Given the description of an element on the screen output the (x, y) to click on. 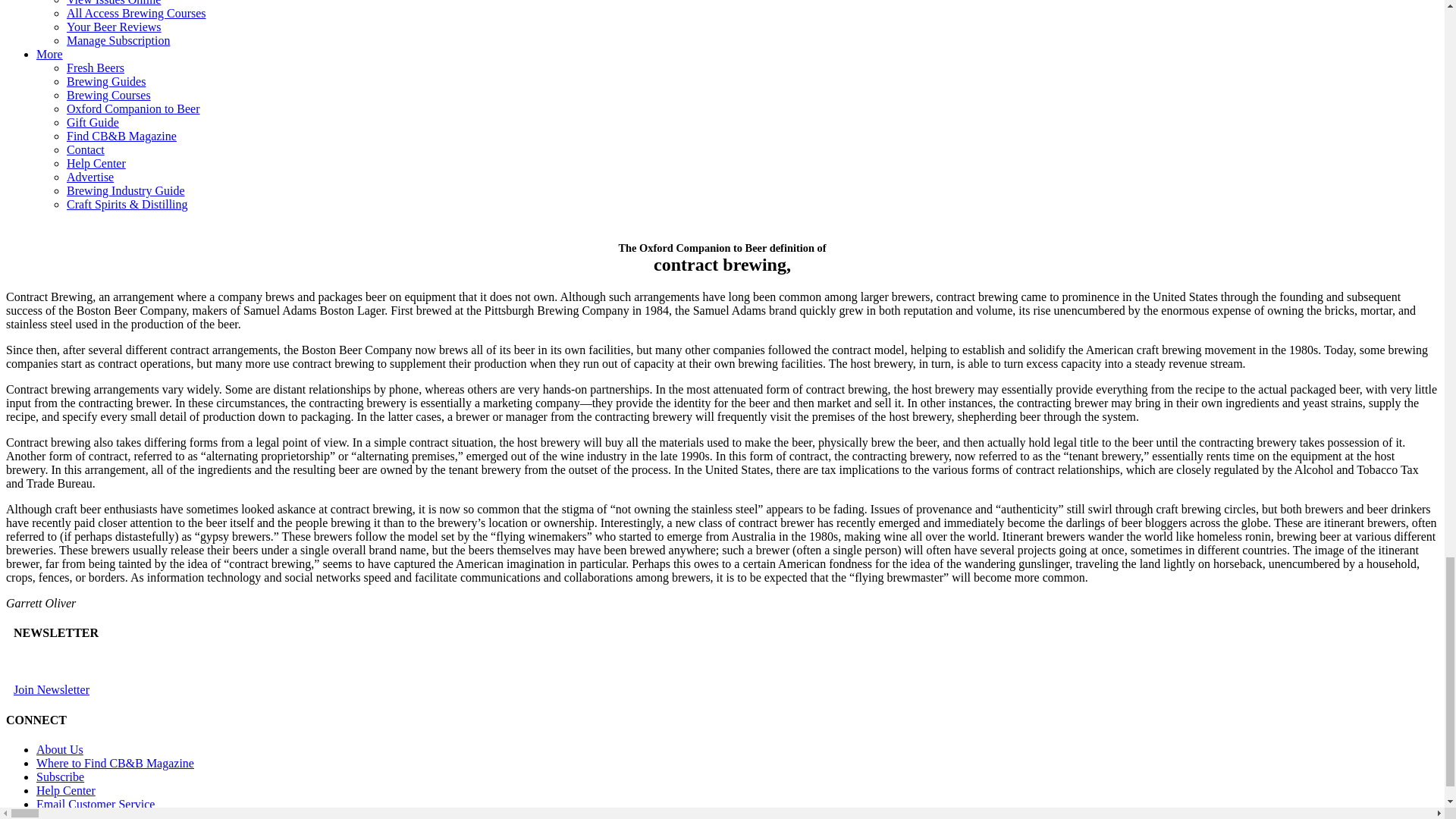
Your Beer Reviews (113, 26)
All Access Brewing Courses (136, 12)
View Issues Online (113, 2)
Manage Subscription (118, 40)
